Given the description of an element on the screen output the (x, y) to click on. 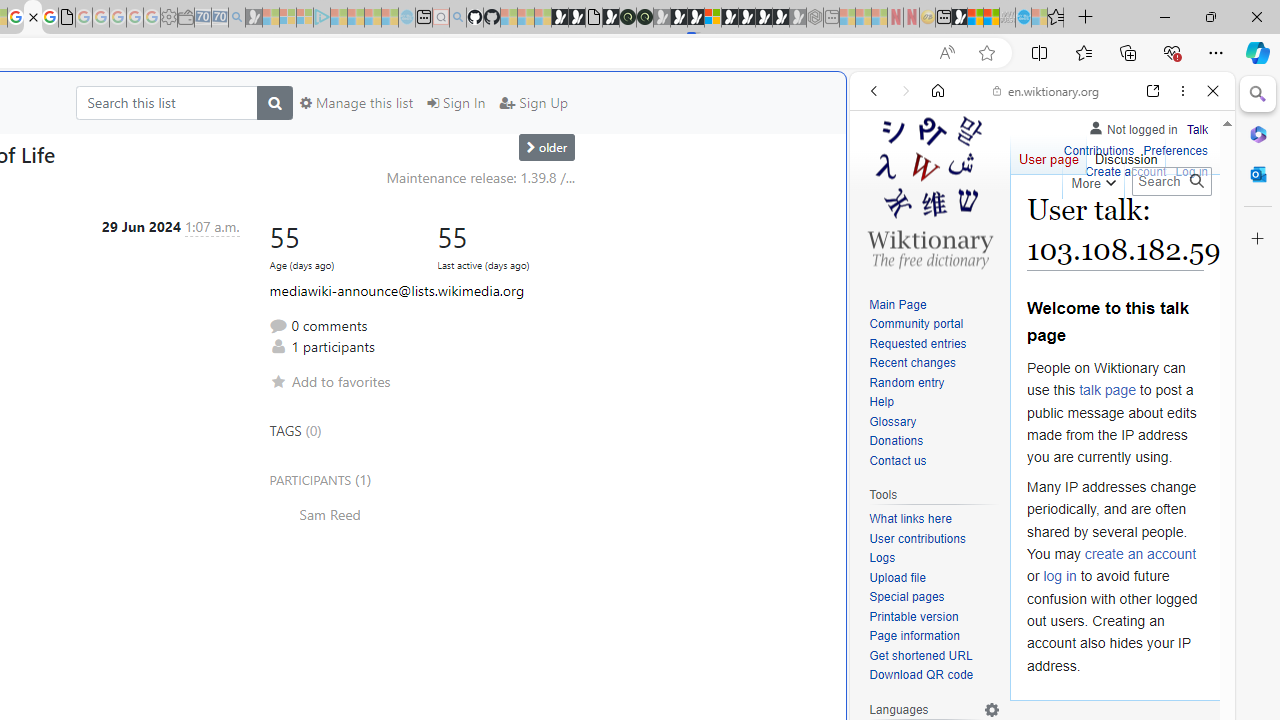
Search the web (1051, 137)
More (1092, 179)
Donations (934, 442)
Search Filter, WEB (882, 228)
Navy Quest (1007, 17)
en.wiktionary.org (1046, 90)
MSN (959, 17)
Talk (1197, 129)
Recent changes (912, 362)
Play Zoo Boom in your browser | Games from Microsoft Start (576, 17)
Get shortened URL (920, 655)
